Given the description of an element on the screen output the (x, y) to click on. 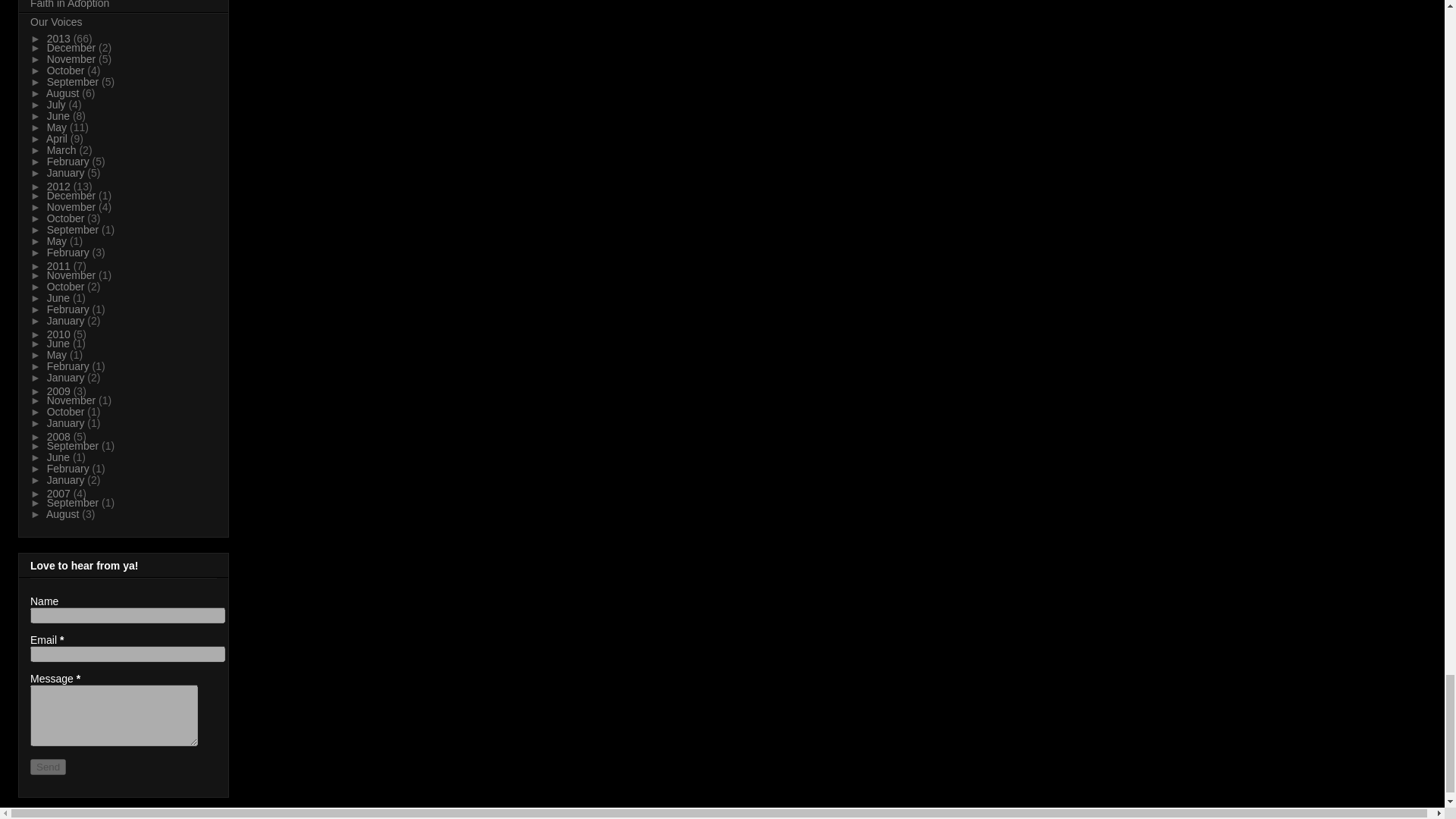
Send (47, 766)
